Given the description of an element on the screen output the (x, y) to click on. 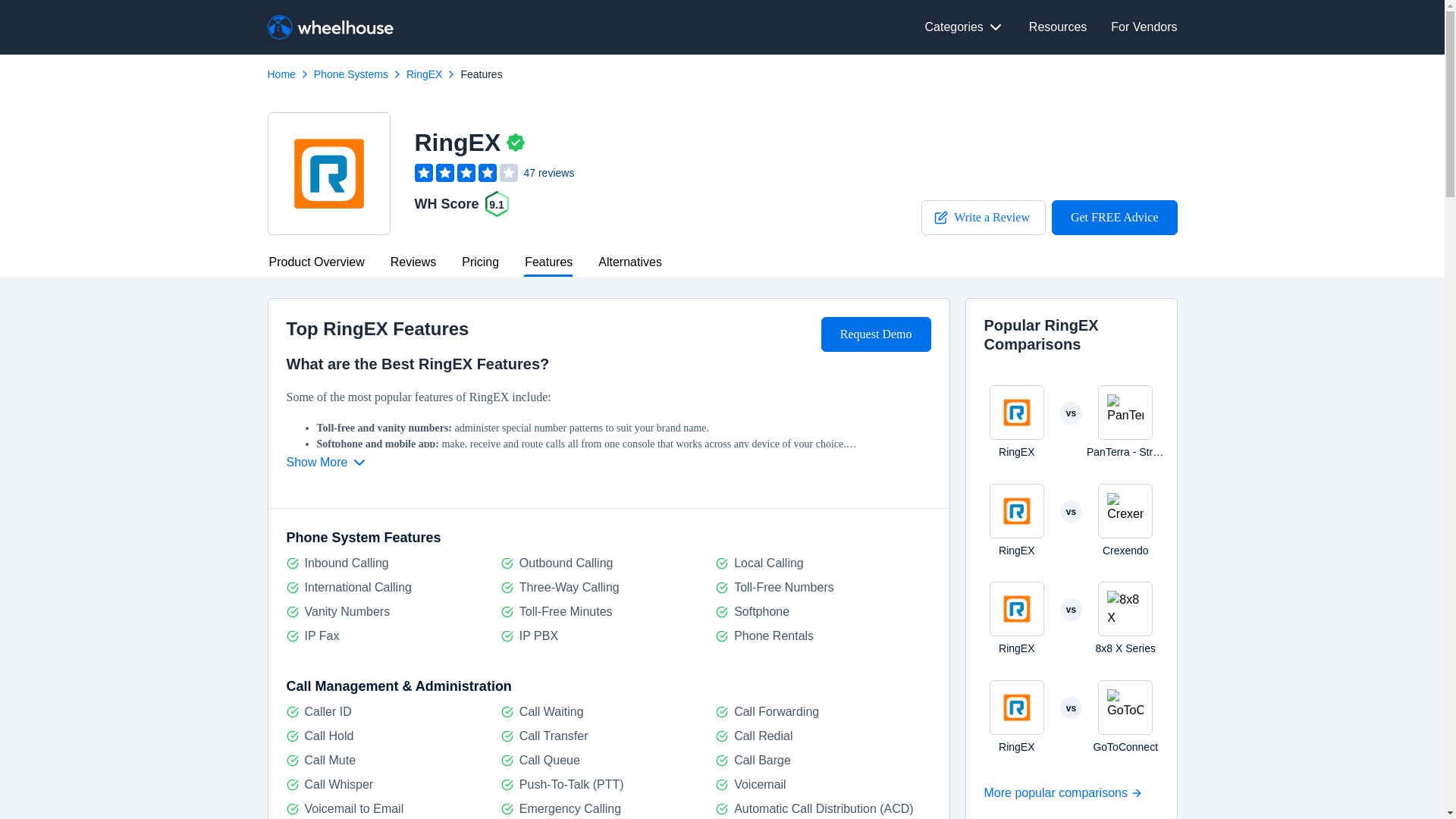
Categories (1071, 422)
Get FREE Advice (964, 26)
Pricing (1071, 520)
Features (1114, 217)
Resources (479, 263)
RingEX (1071, 716)
Product Overview (481, 73)
